Given the description of an element on the screen output the (x, y) to click on. 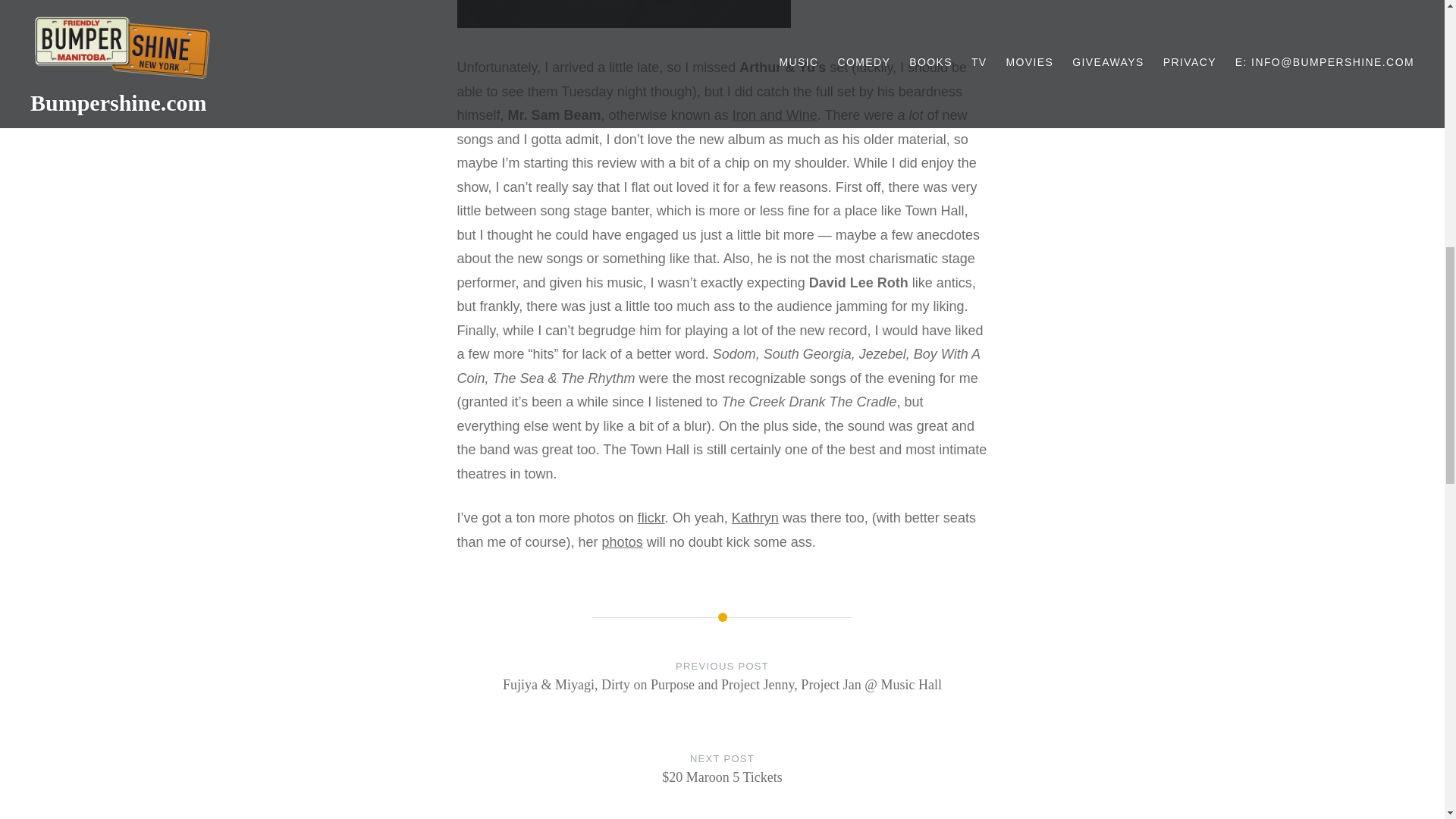
Kathryn (755, 517)
photos (622, 541)
Iron and Wine (774, 114)
flickr (651, 517)
